Given the description of an element on the screen output the (x, y) to click on. 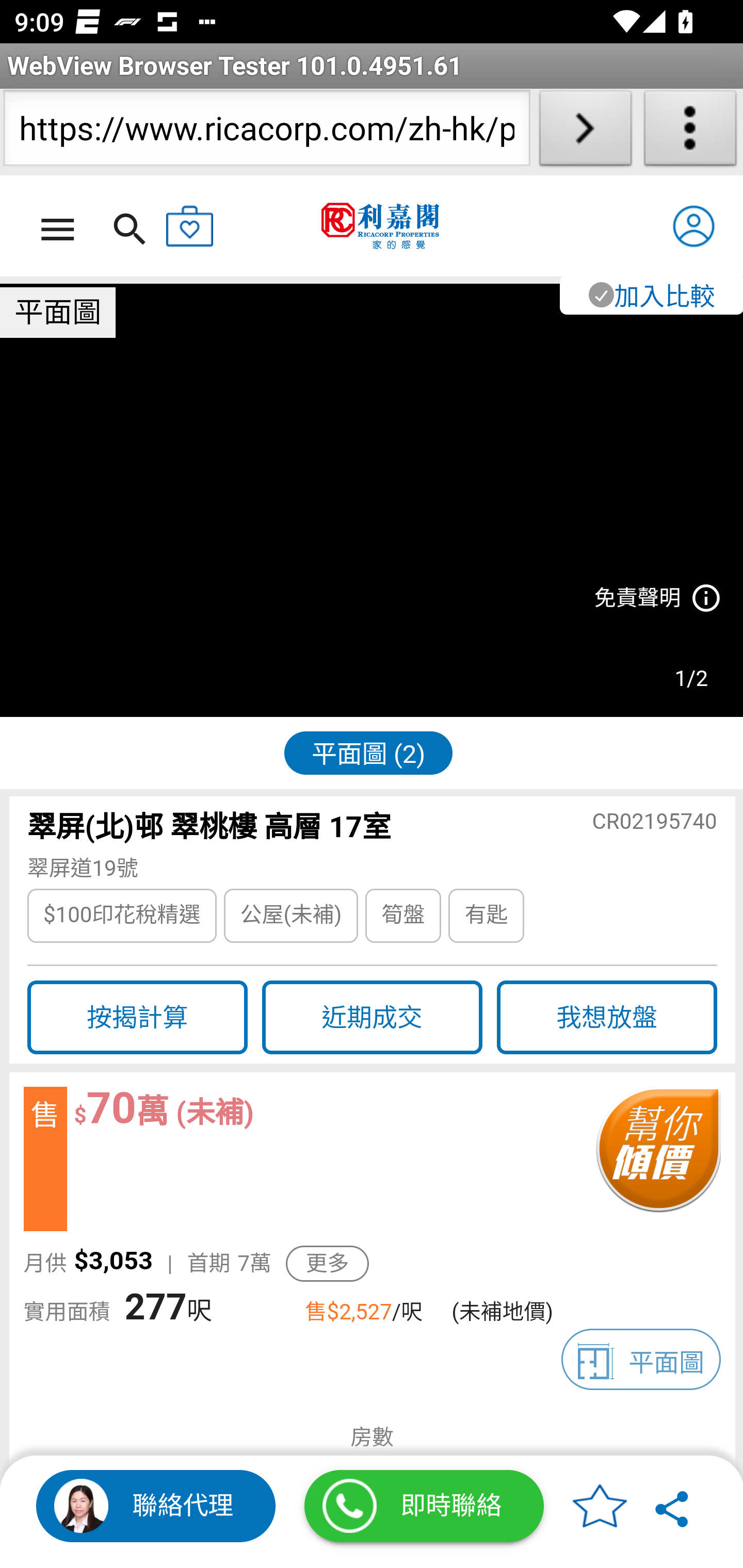
Load URL (585, 132)
About WebView (690, 132)
unchecked 加入比較 (650, 294)
免責聲明 (656, 599)
平面圖 (2) (368, 752)
按揭計算 (136, 1018)
近期成交 (371, 1018)
我想放盤 (606, 1018)
negotiation (657, 1159)
更多 (327, 1263)
平面圖 (640, 1359)
Joey Hu 聯絡代理 (156, 1505)
whatsapp 即時聯絡 (424, 1505)
Share button (672, 1505)
